Given the description of an element on the screen output the (x, y) to click on. 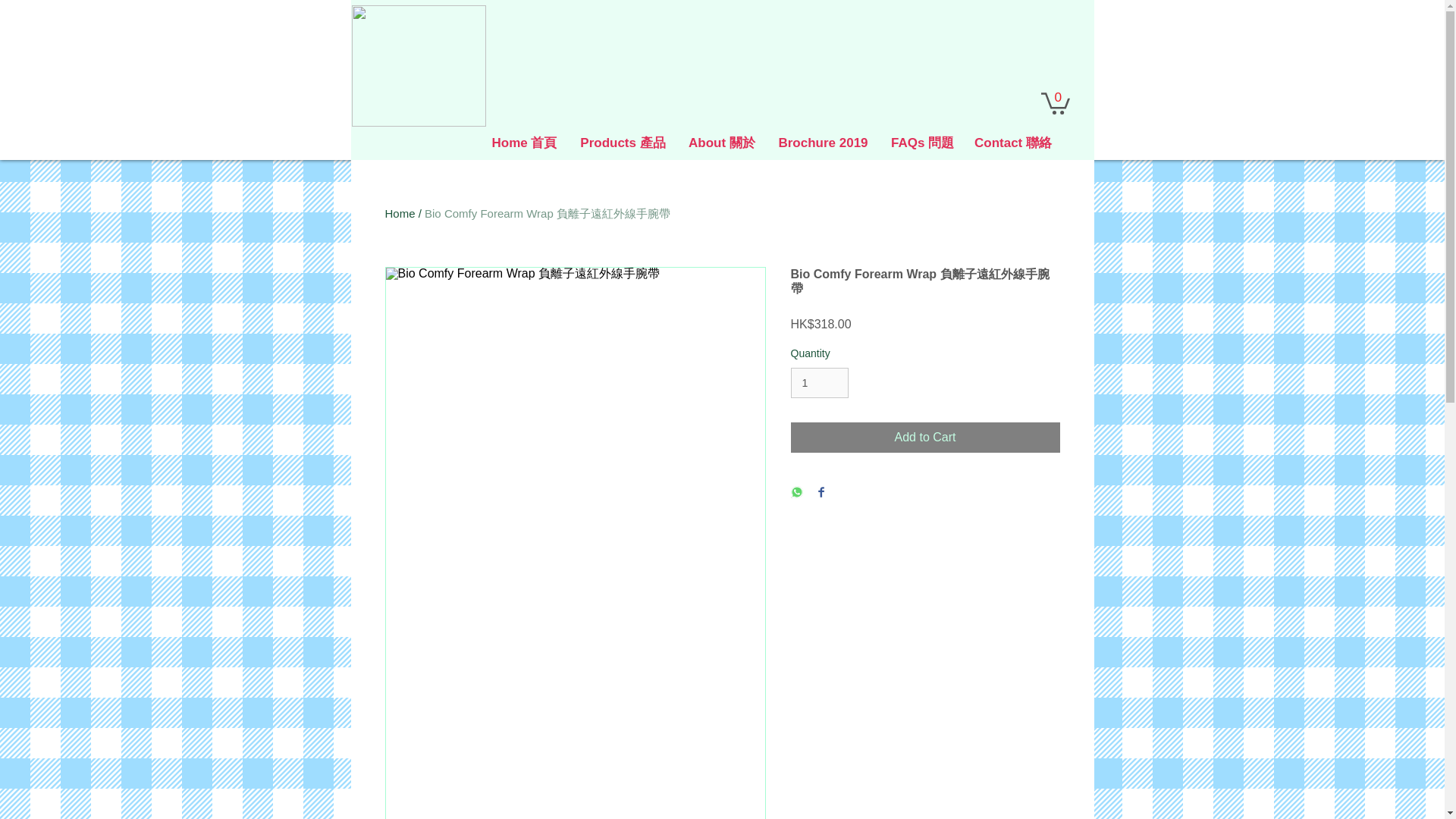
0 (1054, 102)
1 (818, 382)
Home (399, 213)
Add to Cart (924, 437)
Brochure 2019 (823, 142)
0 (1054, 102)
